Given the description of an element on the screen output the (x, y) to click on. 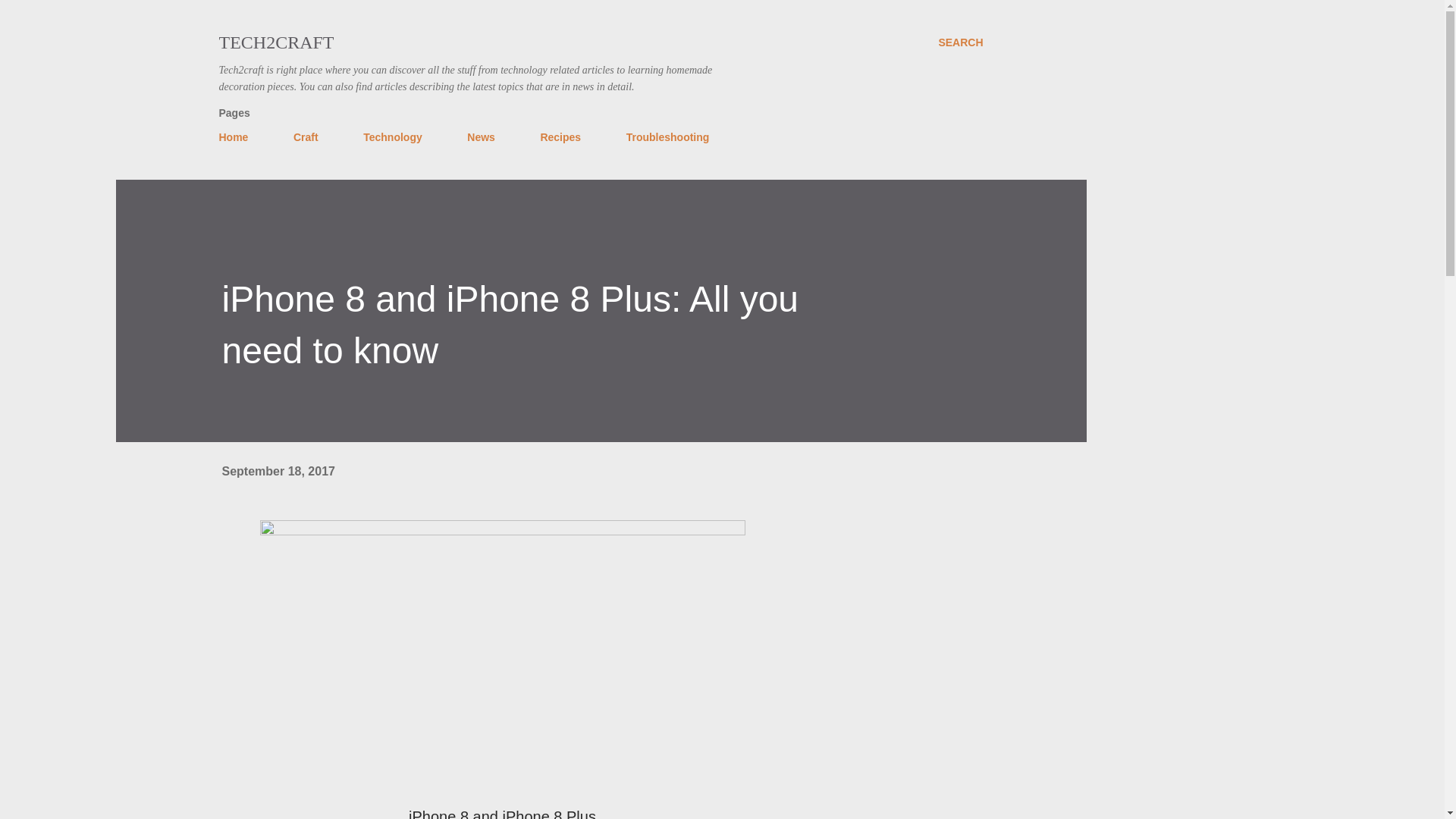
SEARCH (959, 42)
Technology (391, 137)
permanent link (277, 471)
Craft (305, 137)
Recipes (560, 137)
News (480, 137)
TECH2CRAFT (275, 42)
September 18, 2017 (277, 471)
Troubleshooting (668, 137)
Home (237, 137)
